Given the description of an element on the screen output the (x, y) to click on. 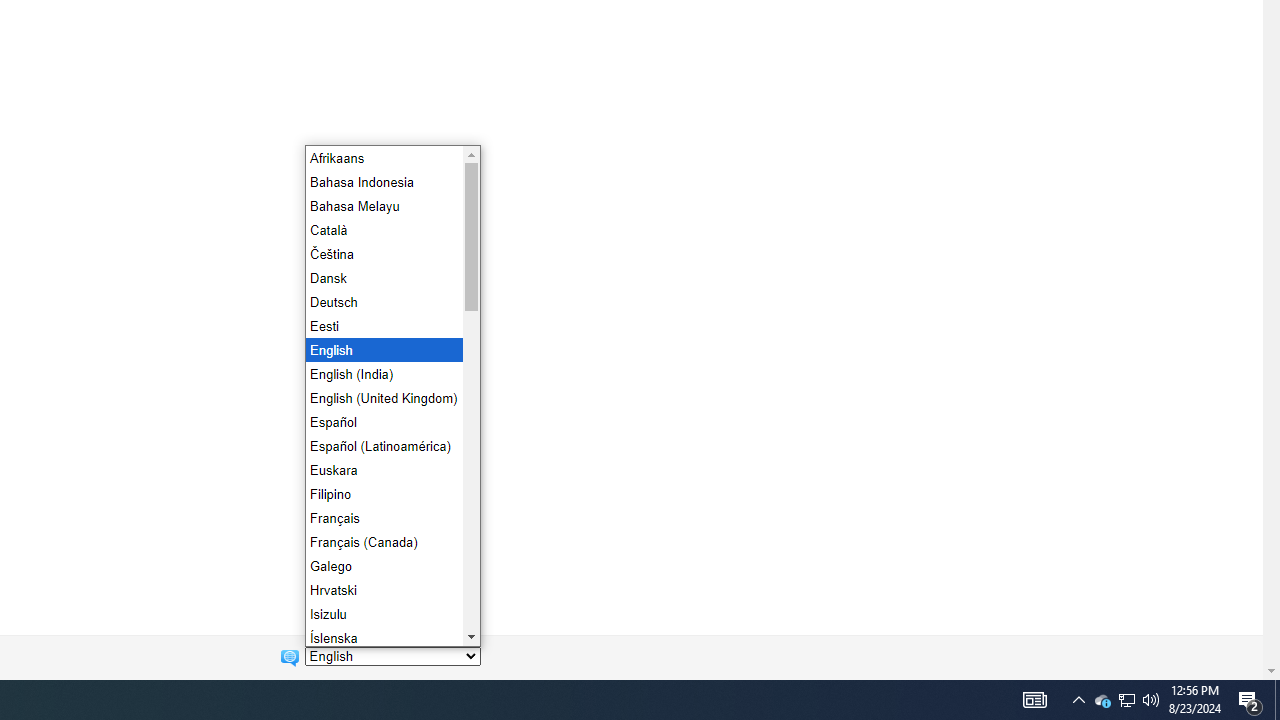
Hrvatski (382, 589)
Galego (382, 565)
Dansk (382, 277)
Change language: (392, 656)
Eesti (382, 325)
Deutsch (382, 301)
